Given the description of an element on the screen output the (x, y) to click on. 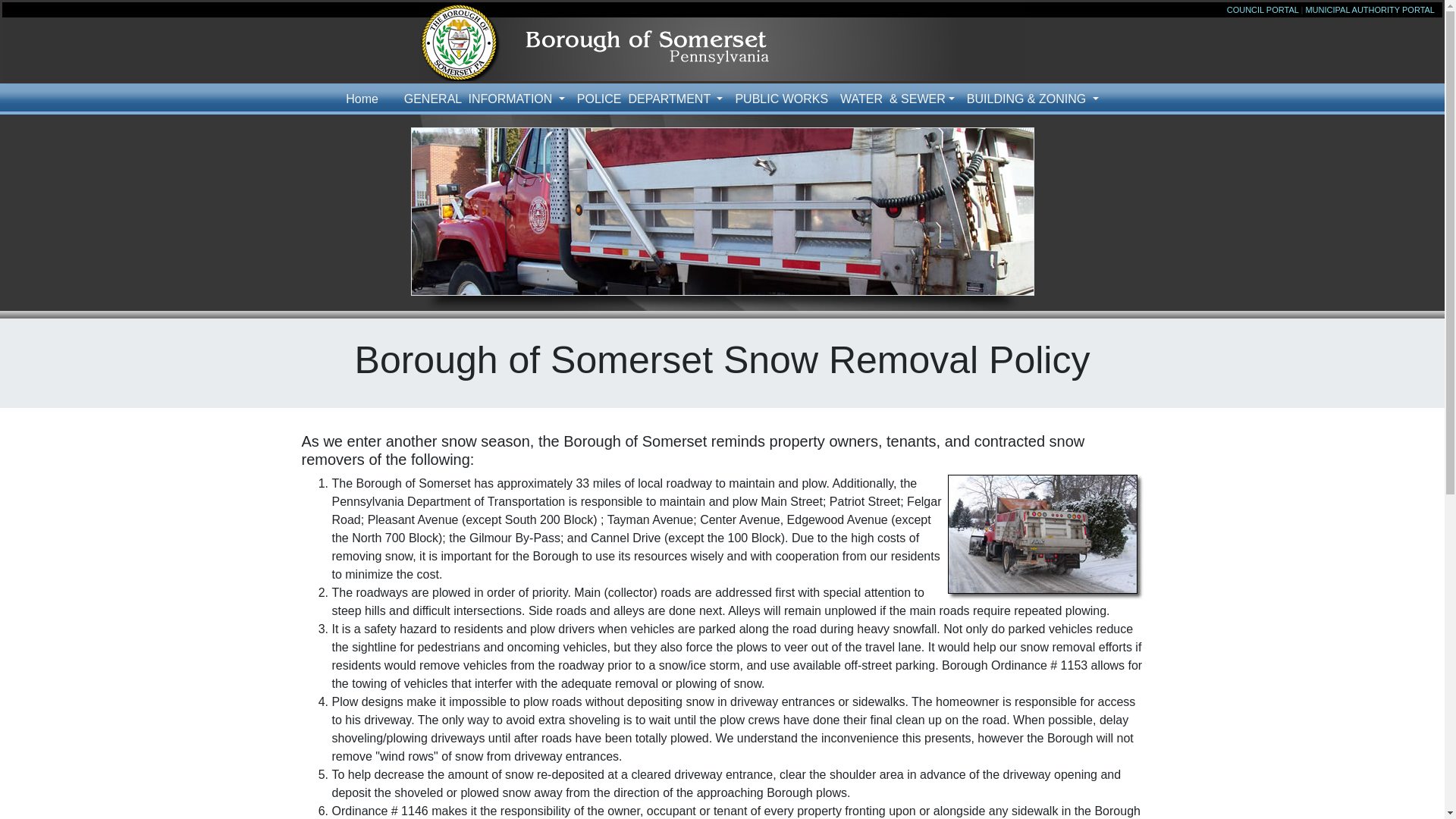
COUNCIL PORTAL (1262, 9)
PUBLIC WORKS (781, 99)
MUNICIPAL AUTHORITY PORTAL (1369, 9)
GENERAL  INFORMATION (483, 99)
POLICE  DEPARTMENT (649, 99)
